Given the description of an element on the screen output the (x, y) to click on. 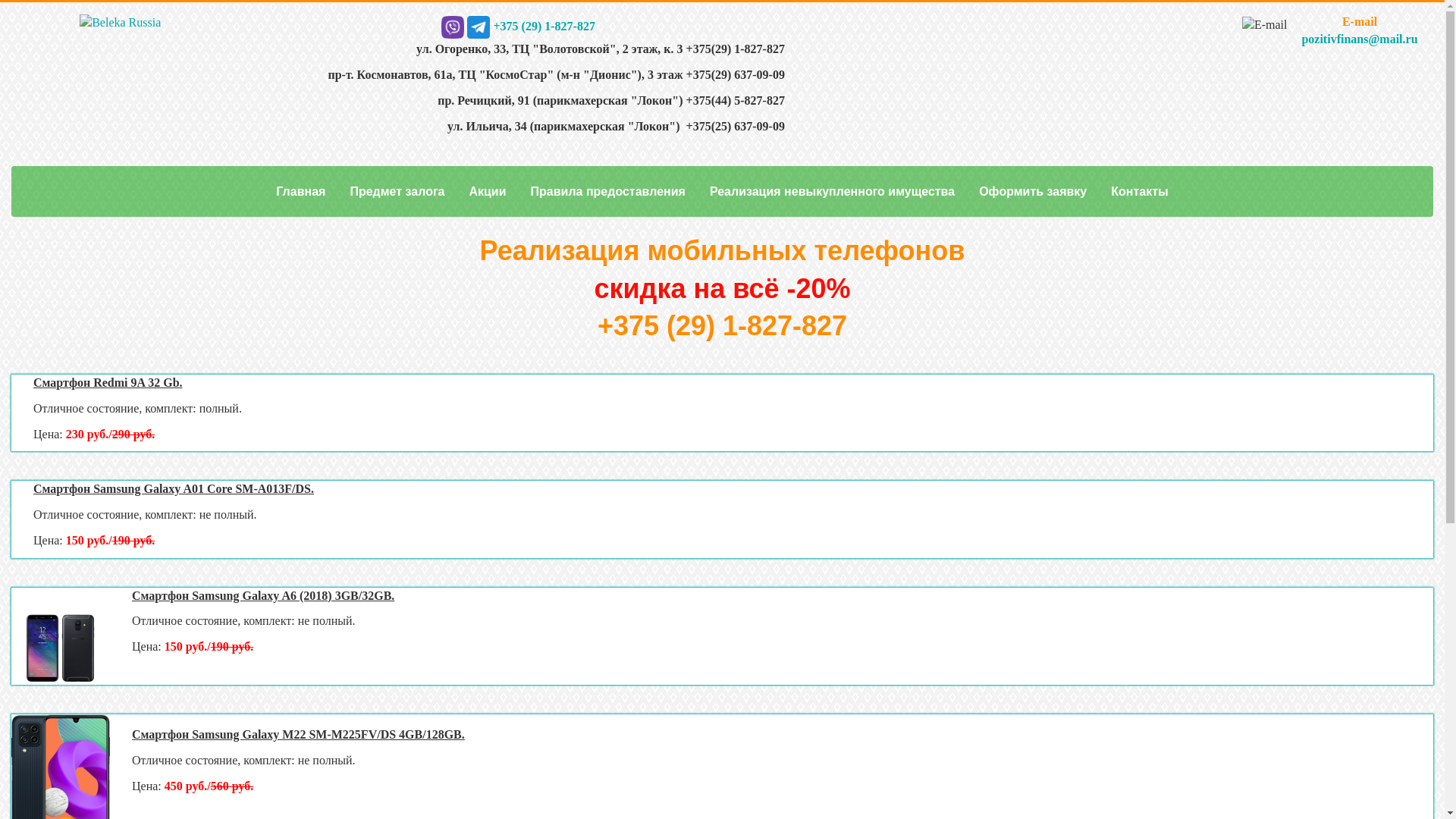
pozitivfinans@mail.ru Element type: text (1359, 38)
 +375 (29) 1-827-827 Element type: text (530, 25)
Beleka Russia Element type: hover (119, 21)
E-mail Element type: hover (1264, 25)
Beleka Russia Element type: hover (119, 22)
